Given the description of an element on the screen output the (x, y) to click on. 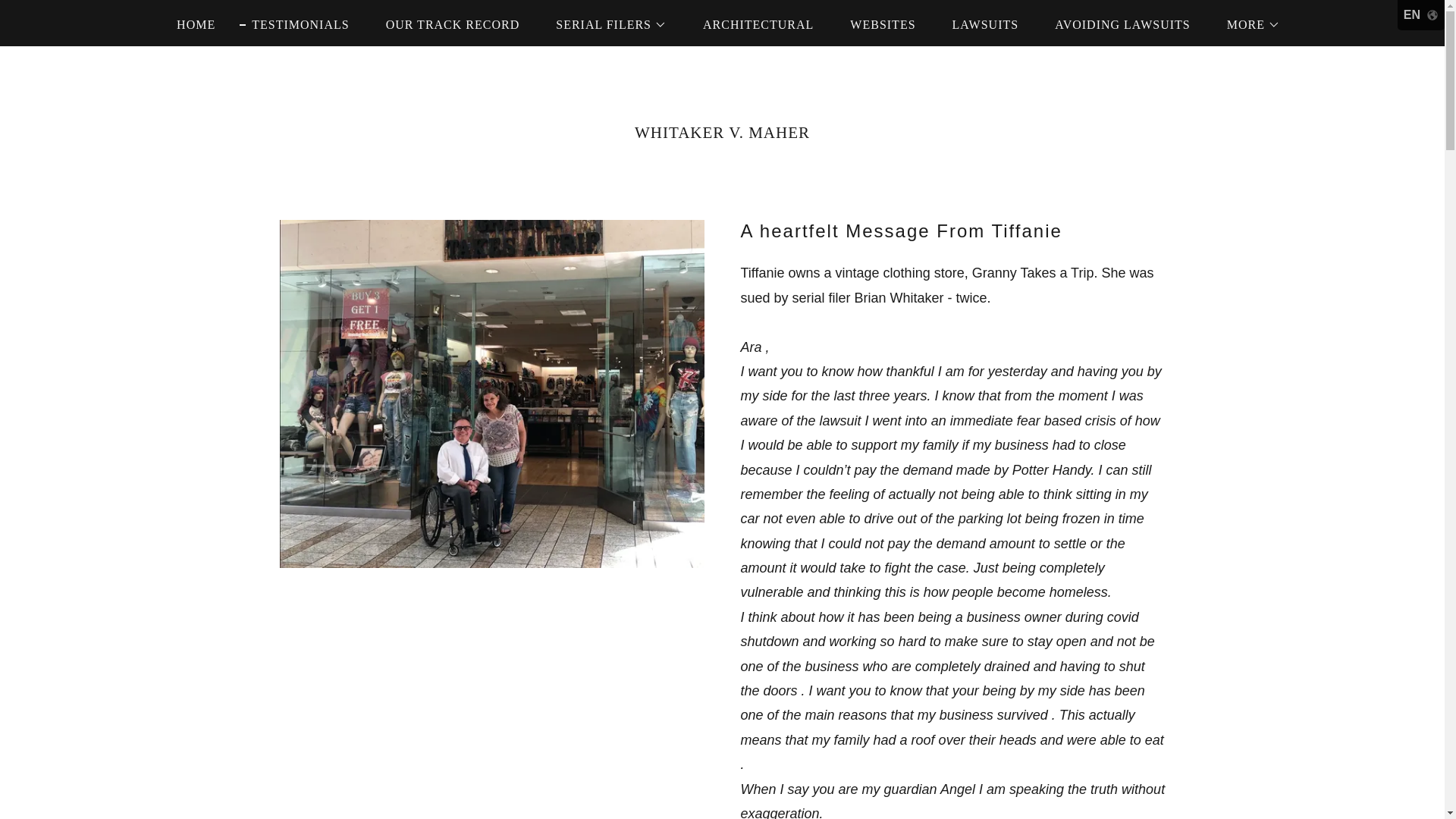
OUR TRACK RECORD (446, 24)
TESTIMONIALS (294, 24)
HOME (189, 24)
SERIAL FILERS (604, 24)
MORE (1246, 24)
WEBSITES (876, 24)
ARCHITECTURAL (751, 24)
AVOIDING LAWSUITS (1116, 24)
LAWSUITS (979, 24)
